Given the description of an element on the screen output the (x, y) to click on. 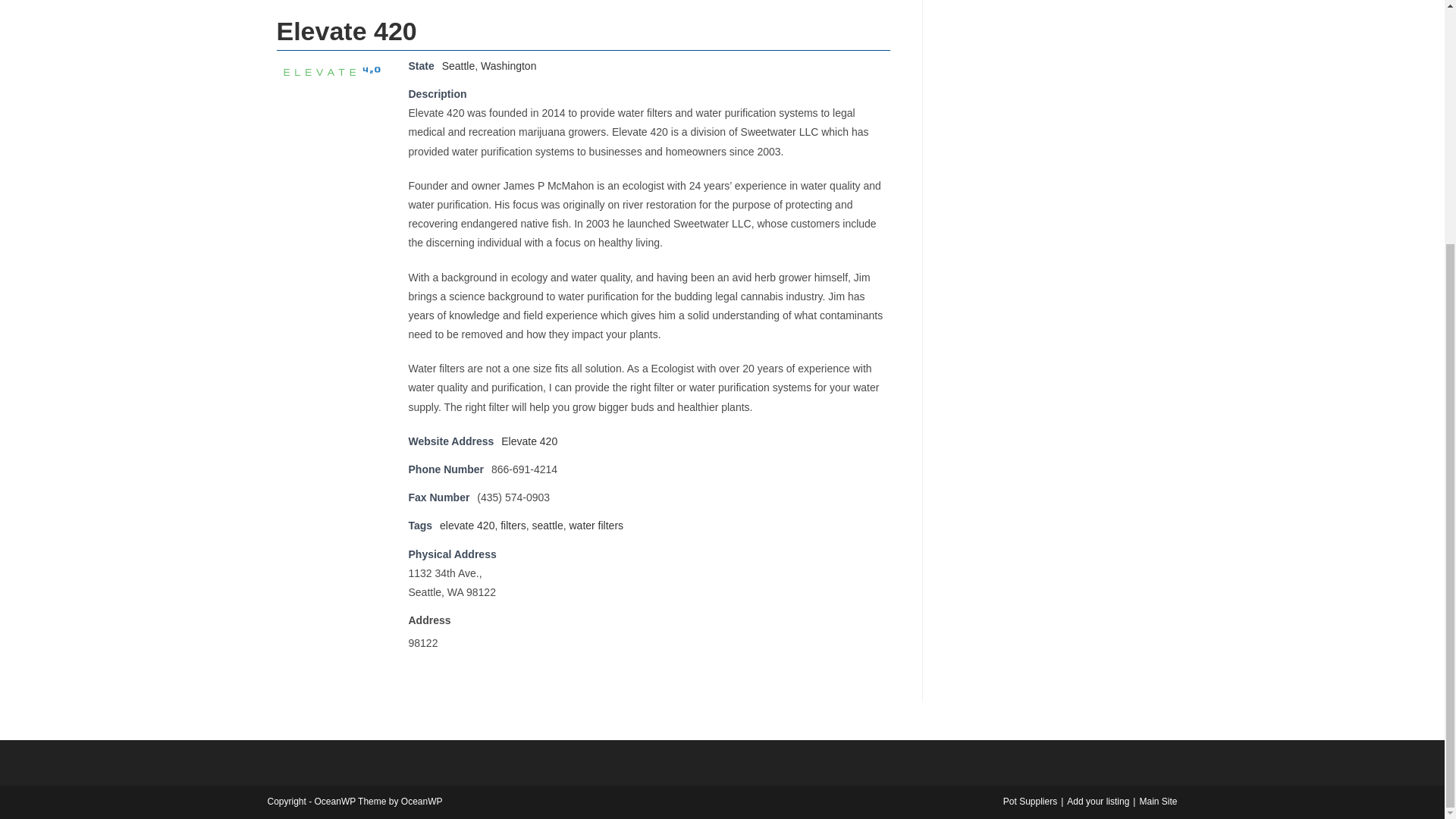
Seattle (459, 65)
Pot Suppliers (1030, 801)
Elevate 420 (333, 70)
elevate 420 (467, 525)
Elevate 420 (528, 440)
filters (512, 525)
Elevate 420 (346, 30)
Add your listing (1098, 801)
Main Site (1157, 801)
water filters (596, 525)
Washington (507, 65)
Elevate 420 (528, 440)
seattle (546, 525)
Advertisement (1060, 18)
